Given the description of an element on the screen output the (x, y) to click on. 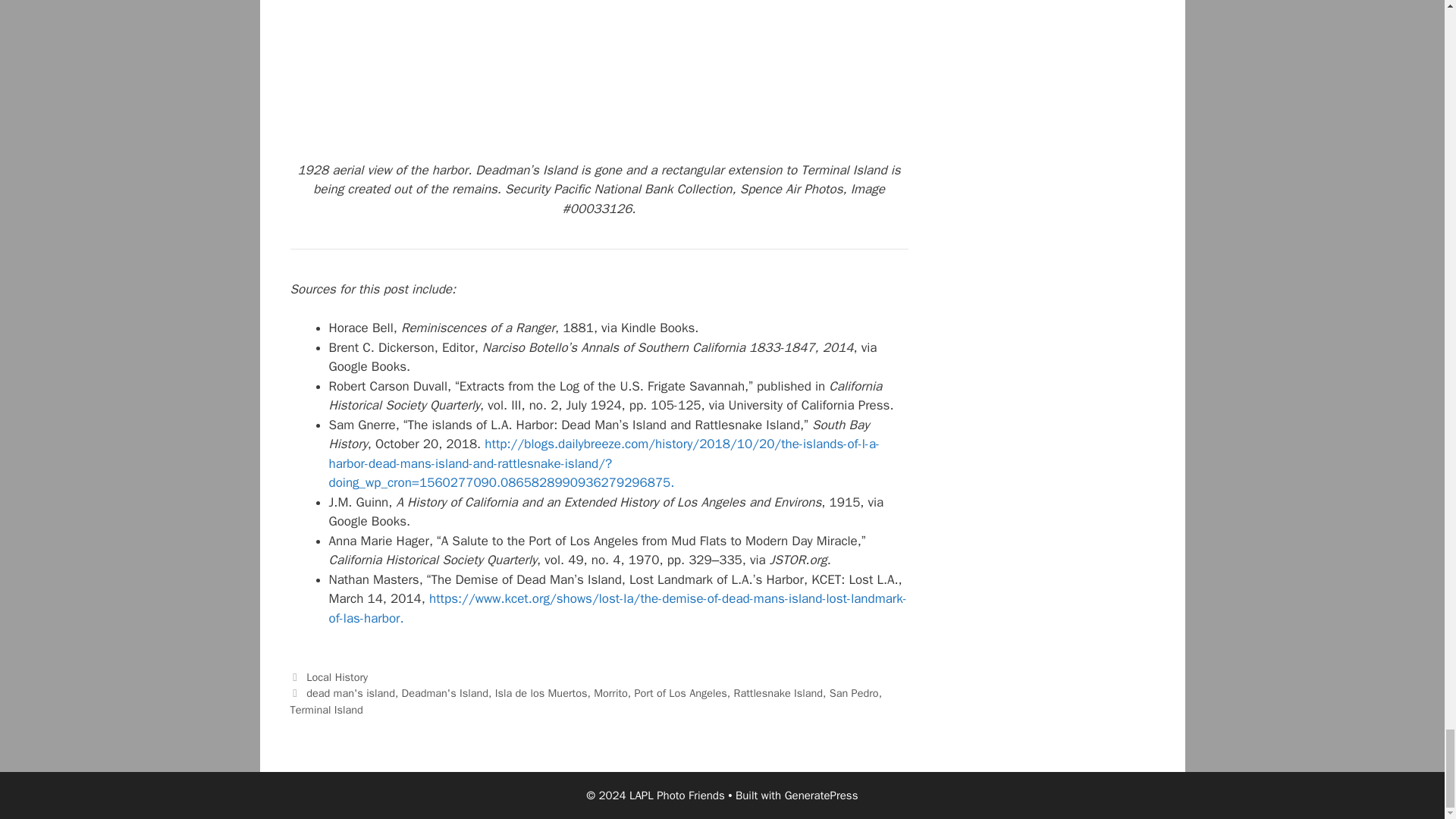
Local History (336, 676)
Deadman's Island (444, 693)
Isla de los Muertos (541, 693)
Morrito (610, 693)
Port of Los Angeles (679, 693)
dead man's island (349, 693)
San Pedro (854, 693)
Terminal Island (325, 709)
Rattlesnake Island (777, 693)
